Given the description of an element on the screen output the (x, y) to click on. 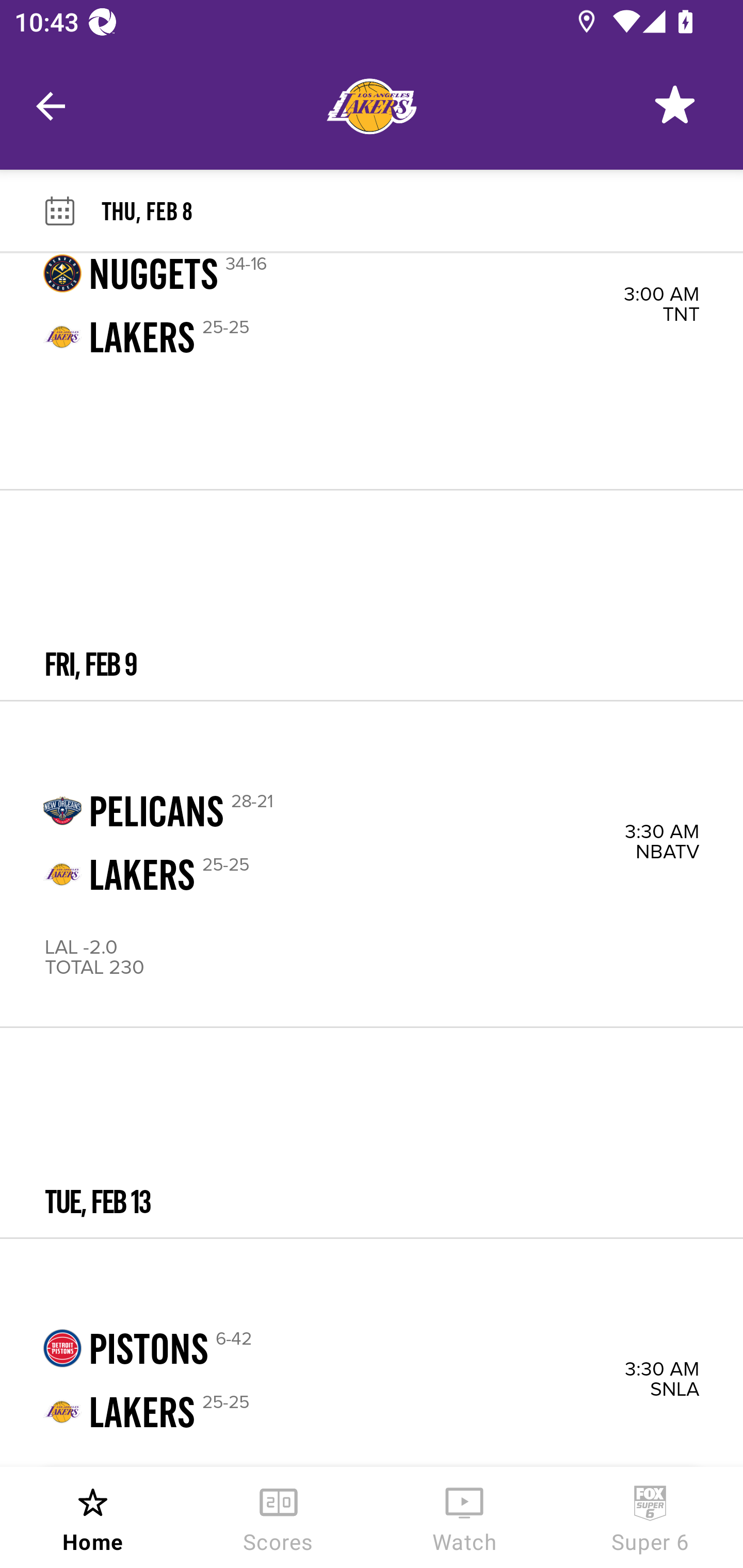
Navigate up (50, 106)
THU, FEB 8 (422, 210)
NUGGETS 34-16 3:00 AM LAKERS 25-25 TNT (371, 371)
FRI, FEB 9 (371, 594)
TUE, FEB 13 (371, 1132)
PISTONS 6-42 3:30 AM LAKERS 25-25 SNLA (371, 1352)
Scores (278, 1517)
Watch (464, 1517)
Super 6 (650, 1517)
